Given the description of an element on the screen output the (x, y) to click on. 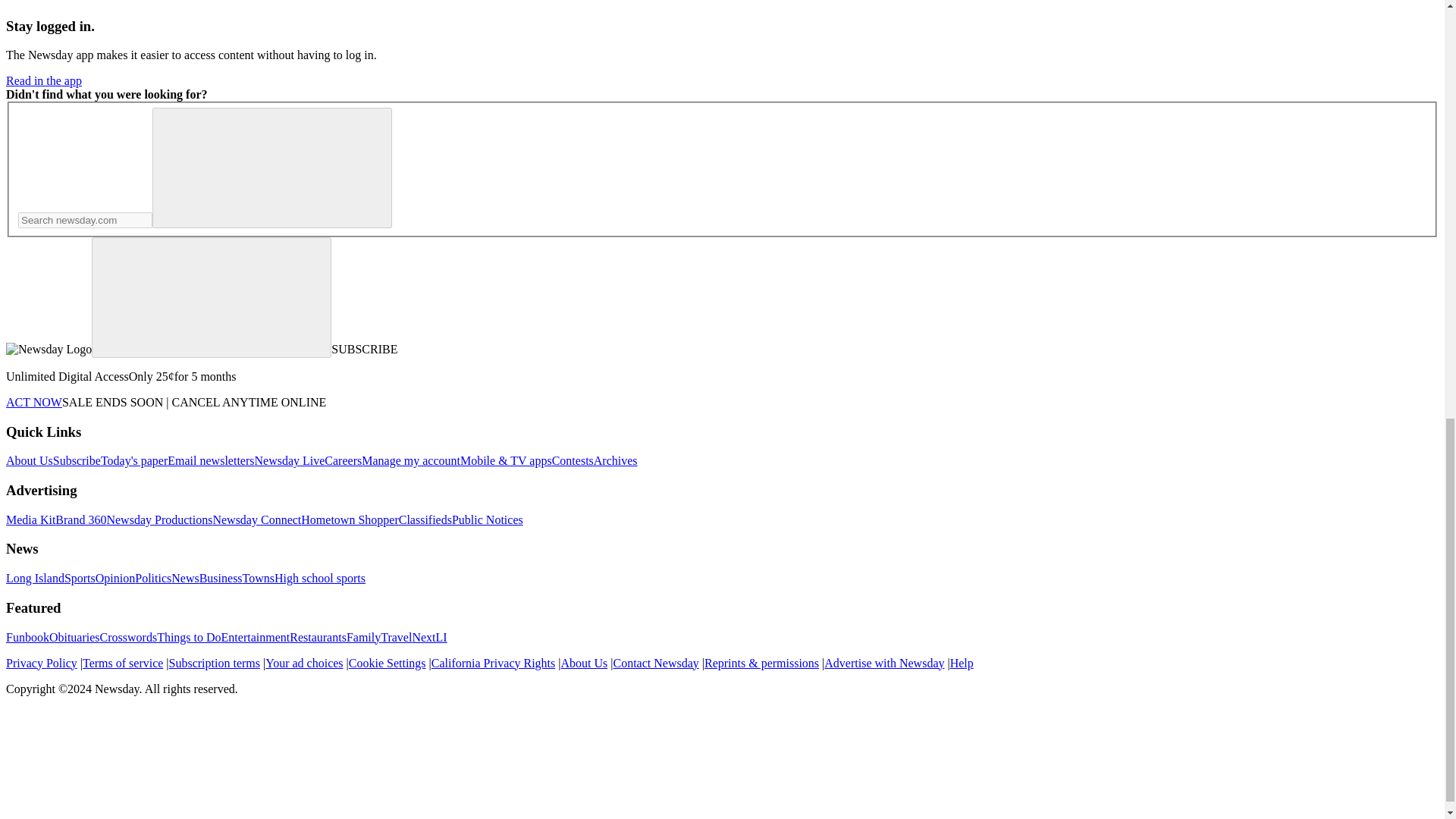
Contests (572, 460)
Manage my account (410, 460)
Careers (342, 460)
Newsday Live (288, 460)
Subscribe (76, 460)
Email newsletters (210, 460)
Read in the app (43, 80)
Search (271, 167)
ACT NOW (33, 401)
Archives (615, 460)
About Us (28, 460)
Today's paper (133, 460)
